Given the description of an element on the screen output the (x, y) to click on. 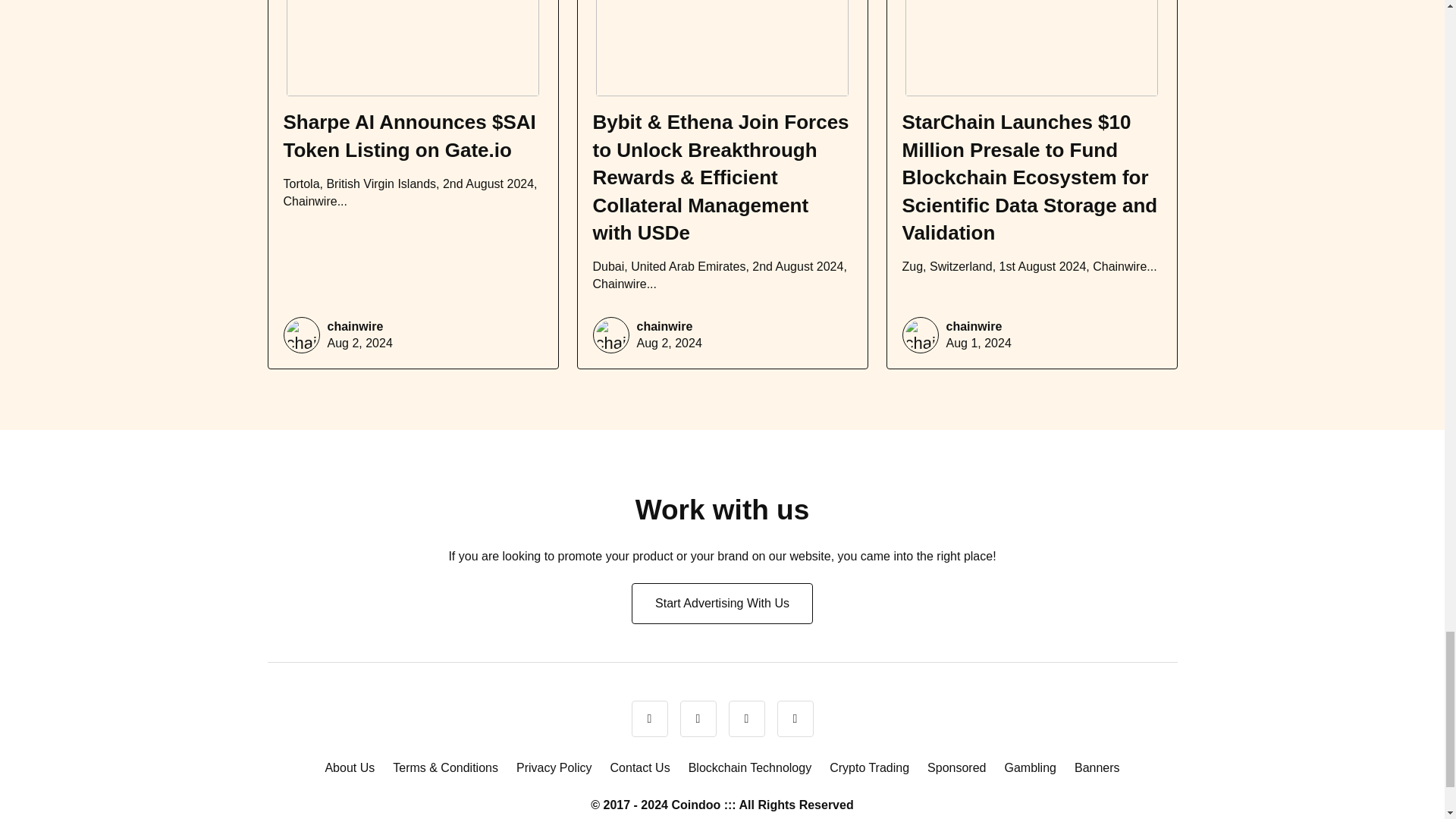
chainwire (665, 326)
chainwire (355, 326)
